Given the description of an element on the screen output the (x, y) to click on. 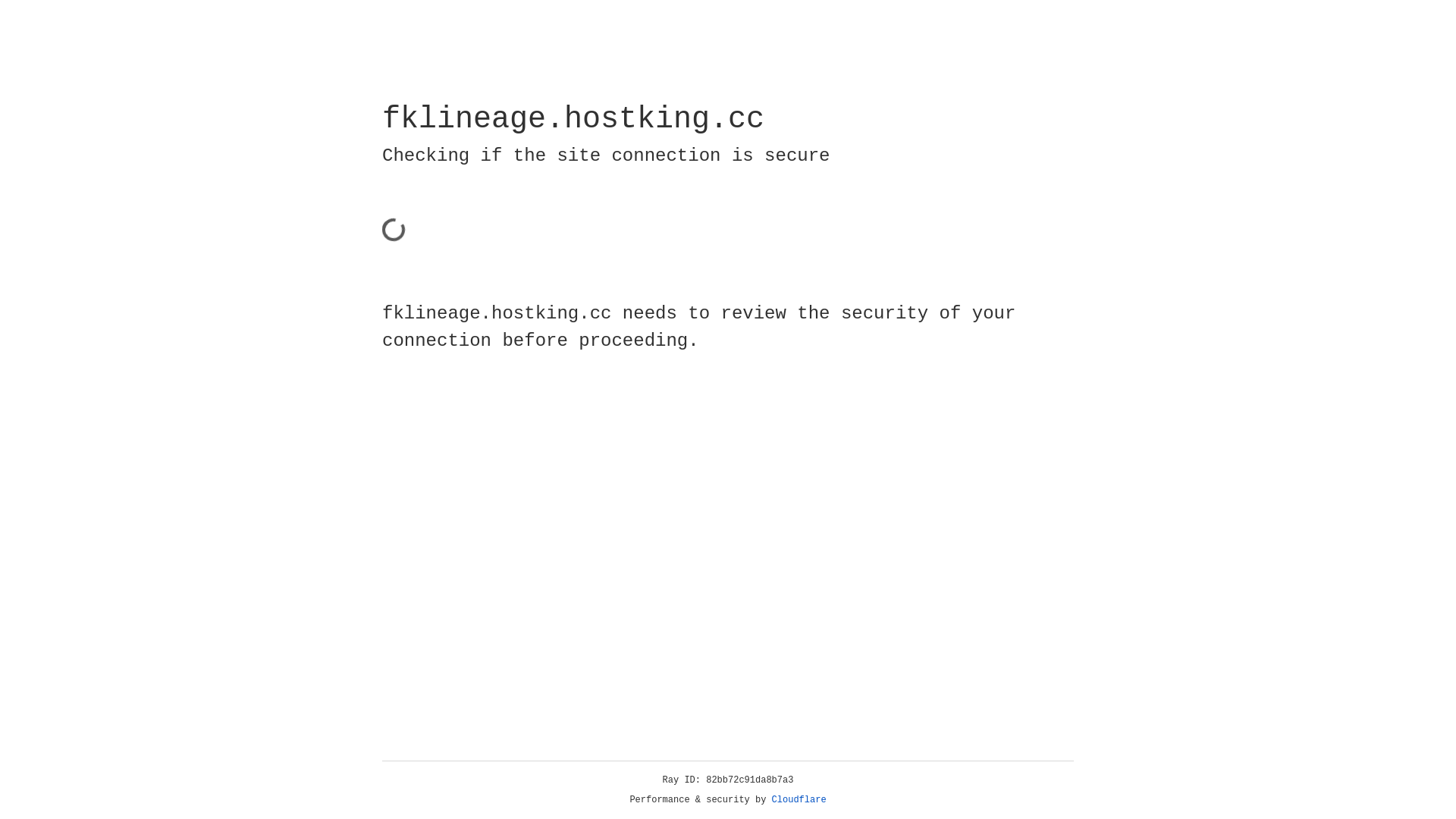
Cloudflare Element type: text (798, 799)
